Given the description of an element on the screen output the (x, y) to click on. 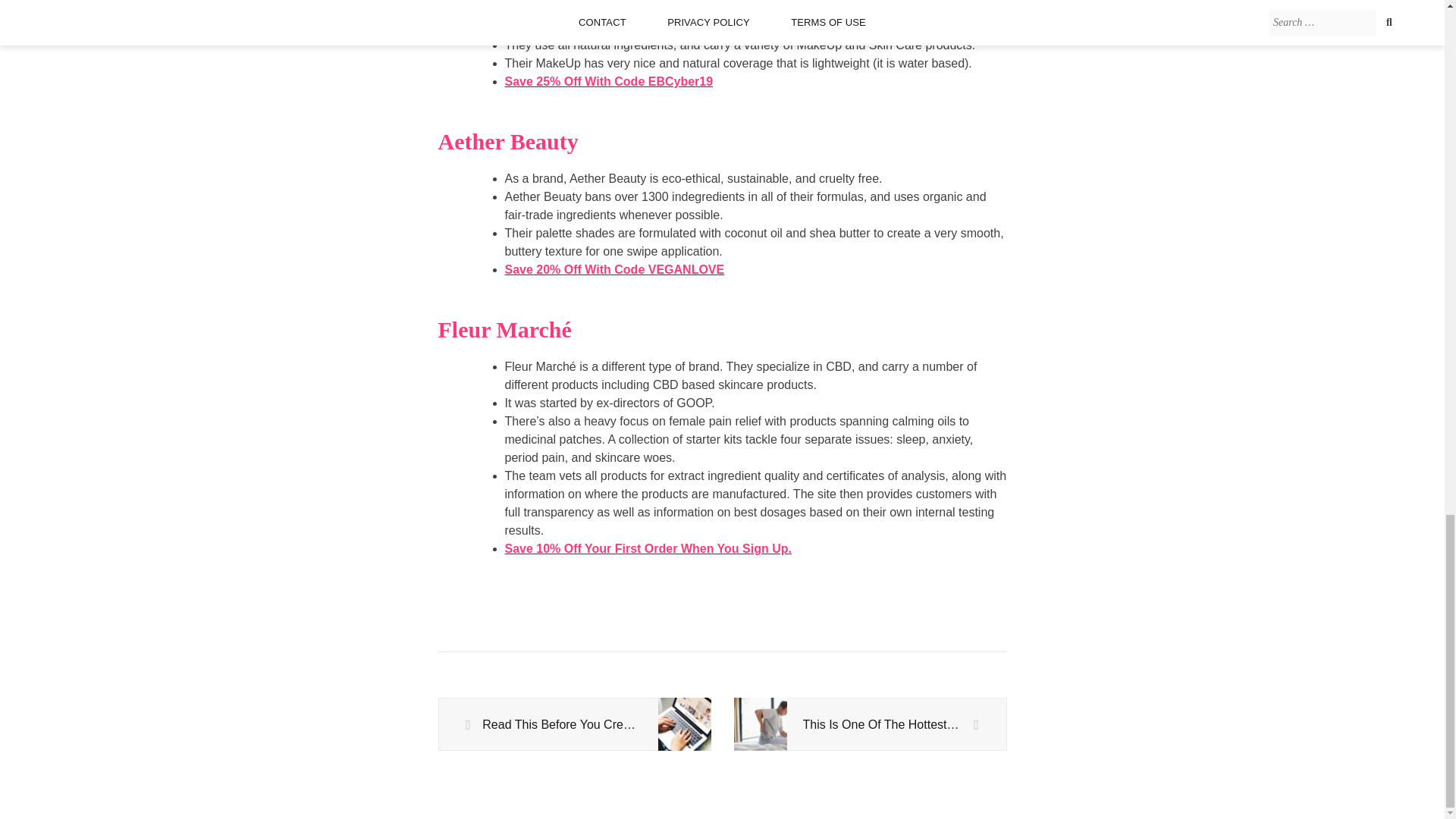
This Is One Of The Hottest CBD Products On The Market (869, 724)
Read This Before You Create An Online Store (574, 724)
Read This Before You Create An Online Store (574, 724)
Aether Beauty (508, 140)
